Given the description of an element on the screen output the (x, y) to click on. 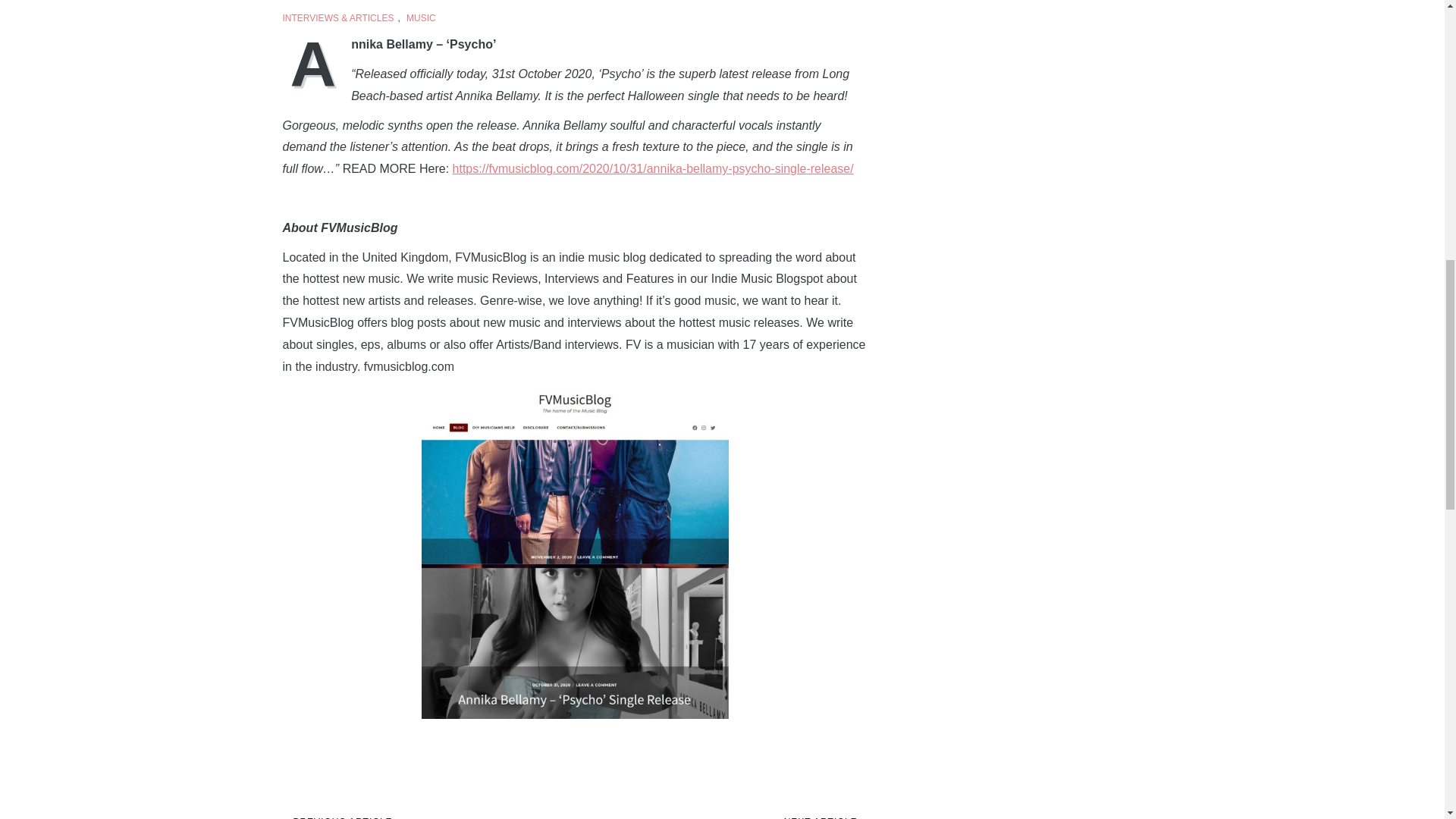
A (316, 62)
MUSIC (420, 18)
